Given the description of an element on the screen output the (x, y) to click on. 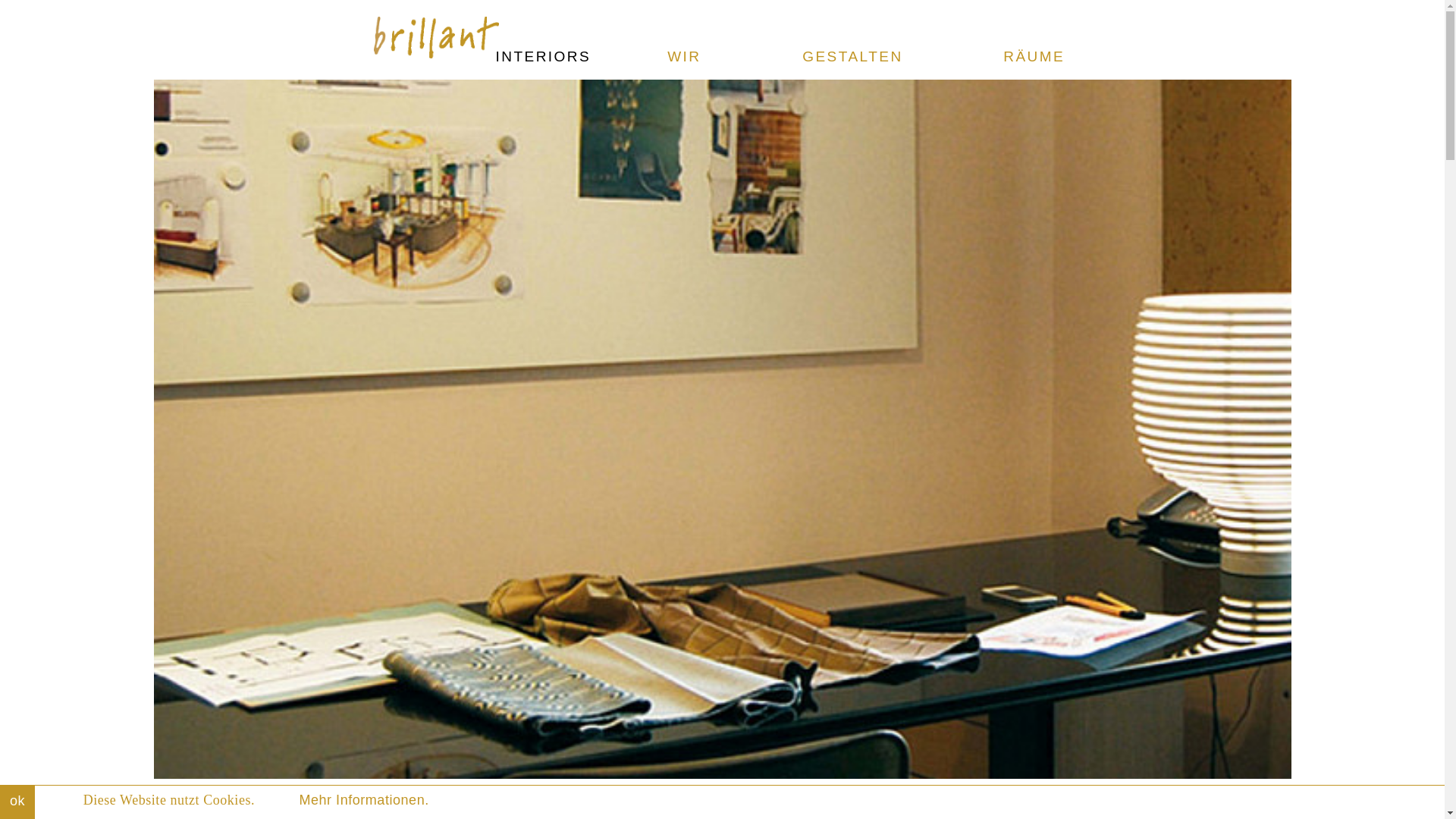
WIR (683, 56)
GESTALTEN (852, 56)
ok (17, 802)
INTERIORS (543, 56)
Mehr Informationen. (363, 799)
